Given the description of an element on the screen output the (x, y) to click on. 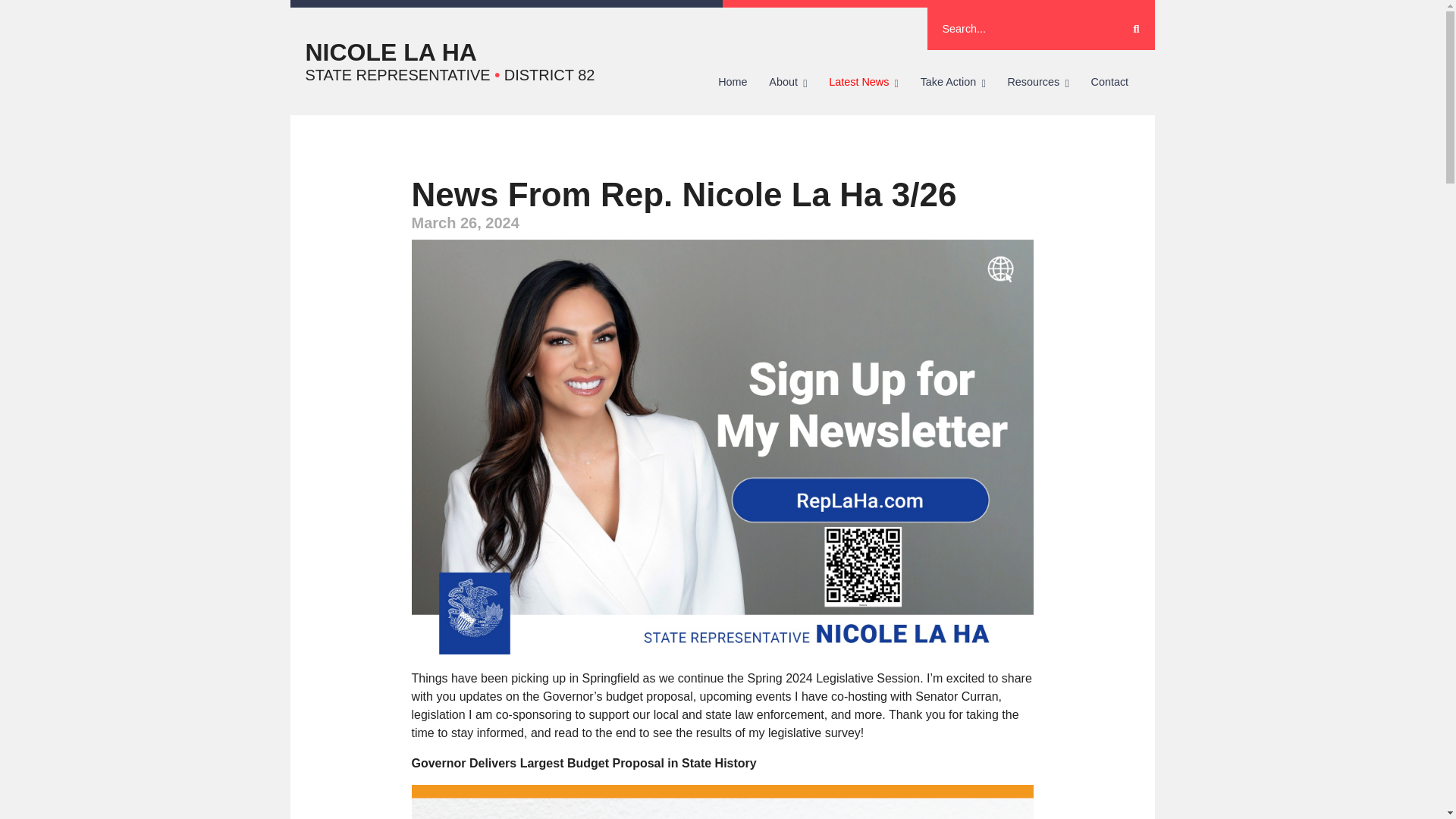
Take Action (951, 82)
Contact (1109, 82)
Home (732, 82)
Resources (1037, 82)
About (788, 82)
Latest News (863, 82)
